Given the description of an element on the screen output the (x, y) to click on. 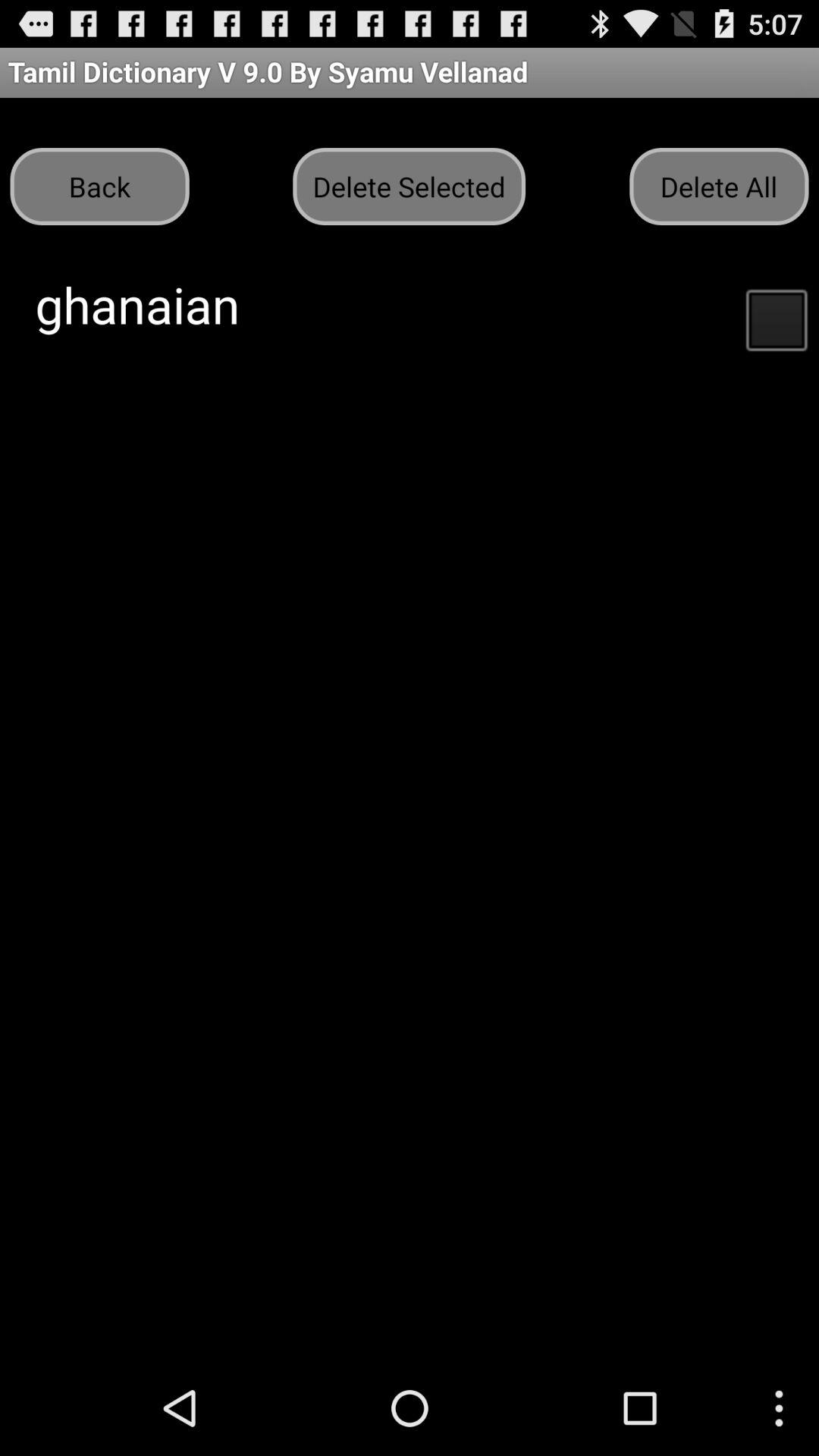
press the item next to delete selected (99, 186)
